Given the description of an element on the screen output the (x, y) to click on. 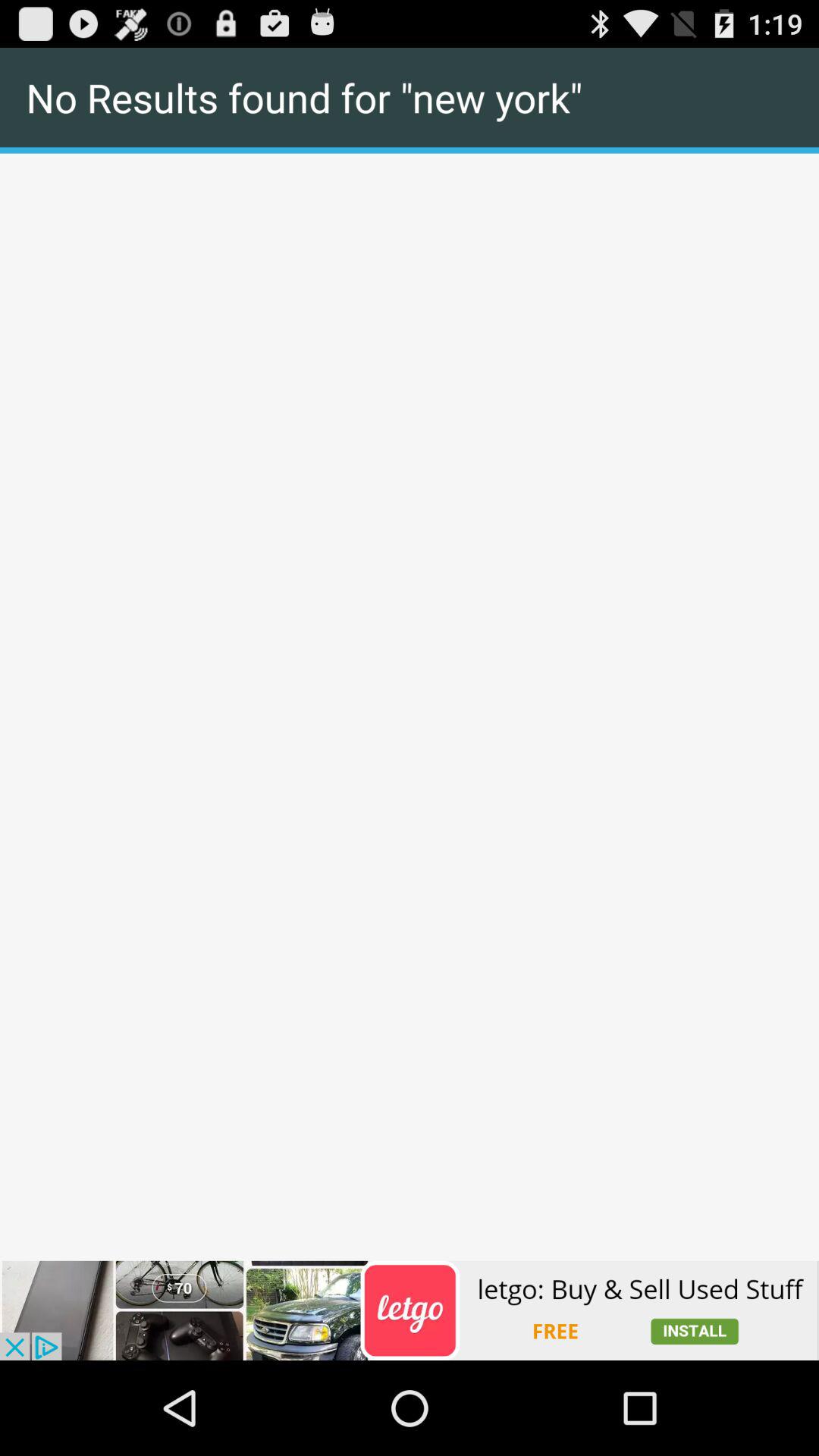
click for advertisement (409, 1310)
